Given the description of an element on the screen output the (x, y) to click on. 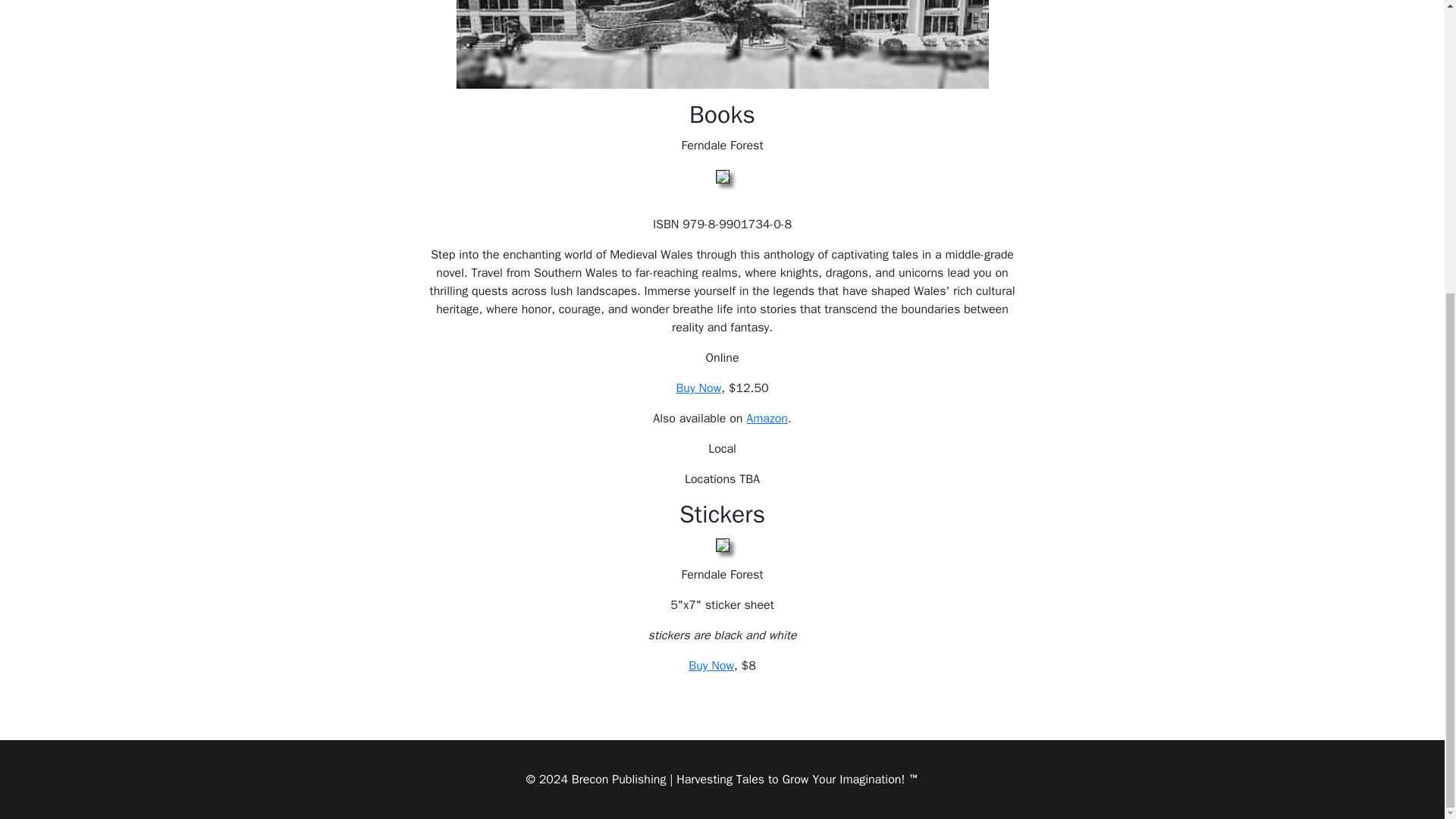
Buy Now (697, 387)
Buy Now (710, 665)
Amazon (766, 418)
